Given the description of an element on the screen output the (x, y) to click on. 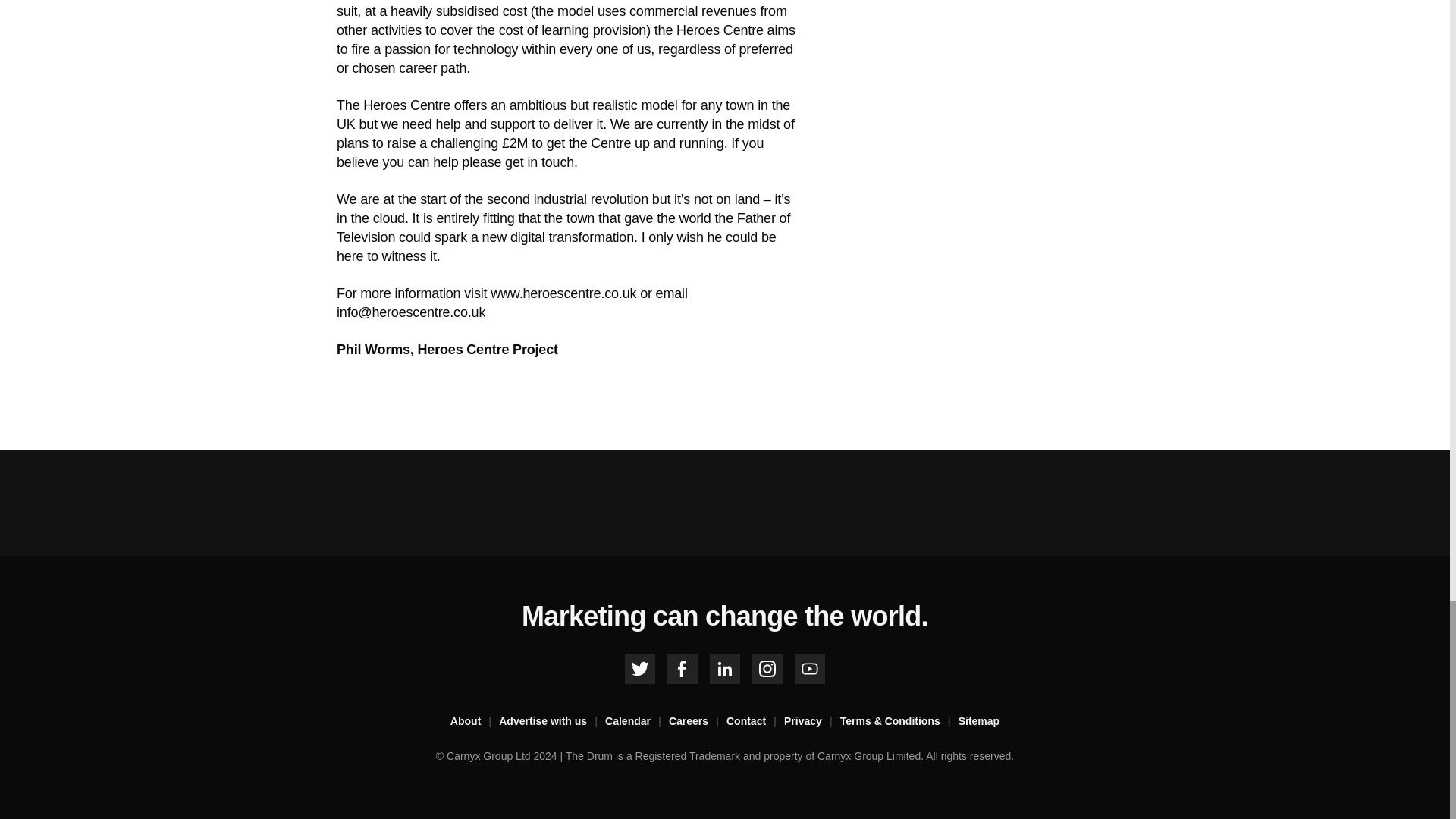
Advertise with us (552, 721)
Calendar (636, 721)
About (474, 721)
Careers (697, 721)
Sitemap (978, 721)
Privacy (812, 721)
Contact (755, 721)
